Given the description of an element on the screen output the (x, y) to click on. 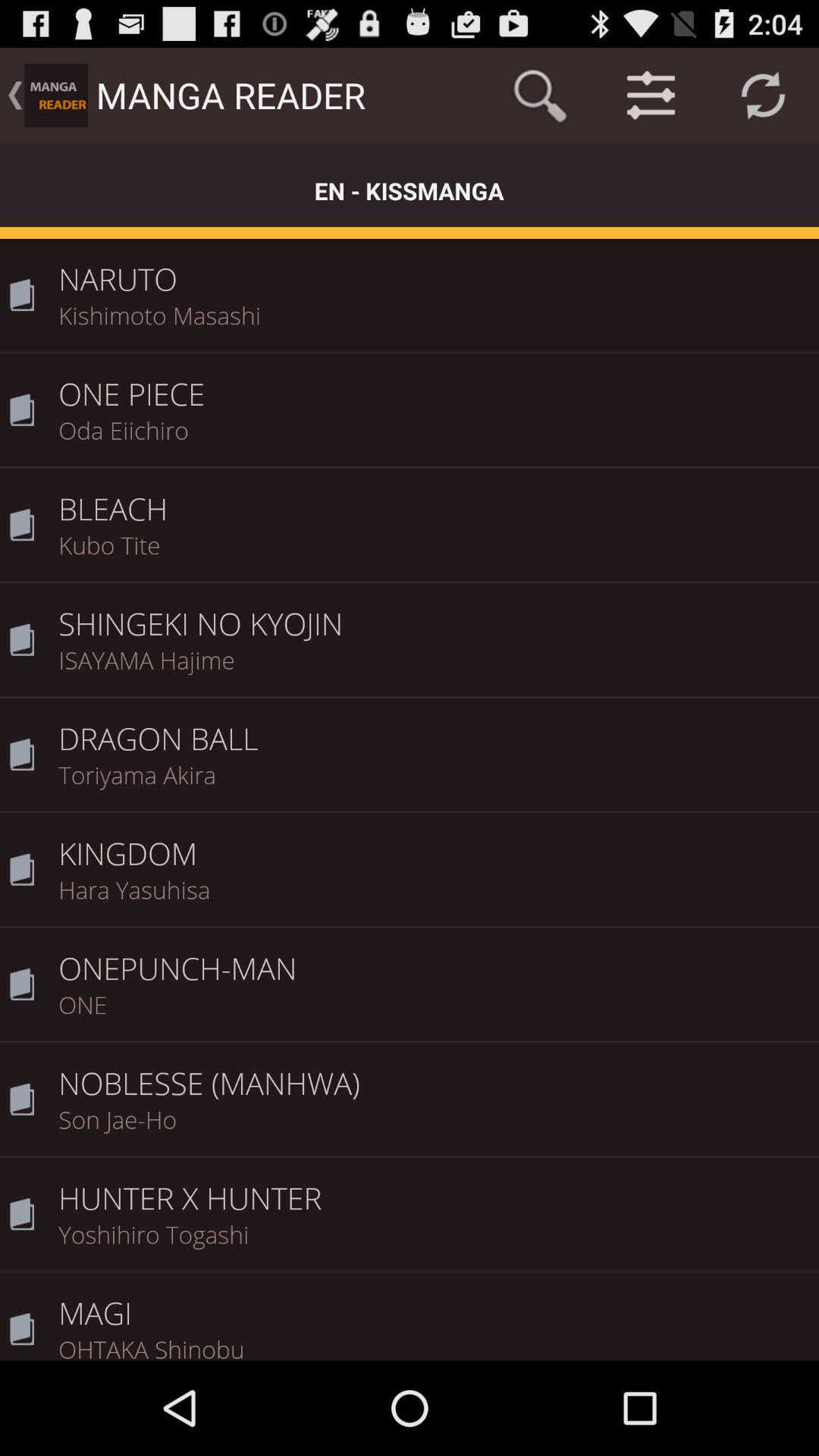
turn off hara yasuhisa item (433, 899)
